Given the description of an element on the screen output the (x, y) to click on. 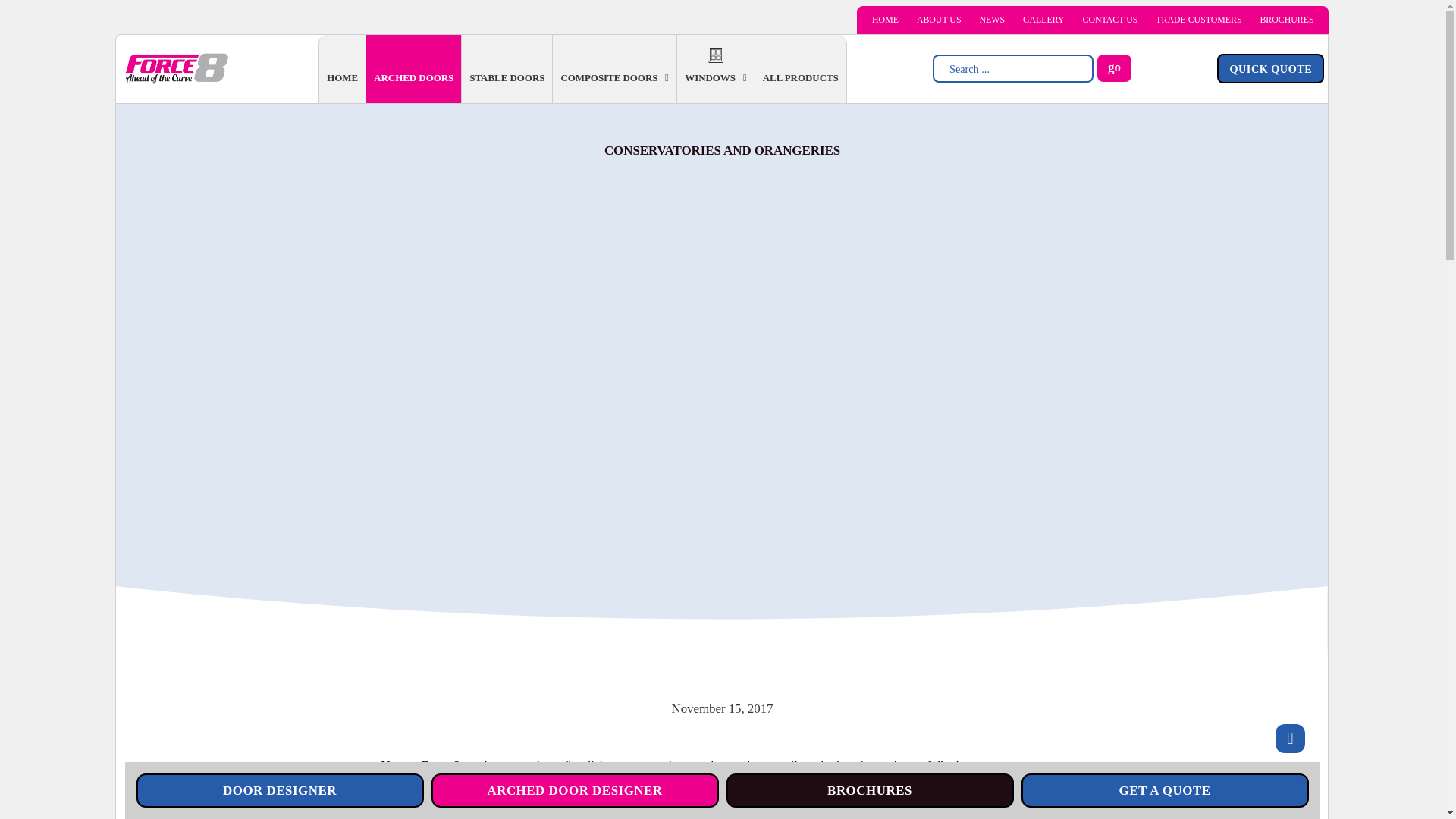
NEWS (991, 19)
QUICK QUOTE (1270, 68)
HOME (885, 19)
go (1114, 67)
BROCHURES (1286, 19)
CONTACT US (1110, 19)
COMPOSITE DOORS (609, 78)
ABOUT US (938, 19)
TRADE CUSTOMERS (1198, 19)
ALL PRODUCTS (800, 78)
STABLE DOORS (506, 78)
ARCHED DOORS (413, 78)
WINDOWS (709, 78)
GALLERY (1043, 19)
